Given the description of an element on the screen output the (x, y) to click on. 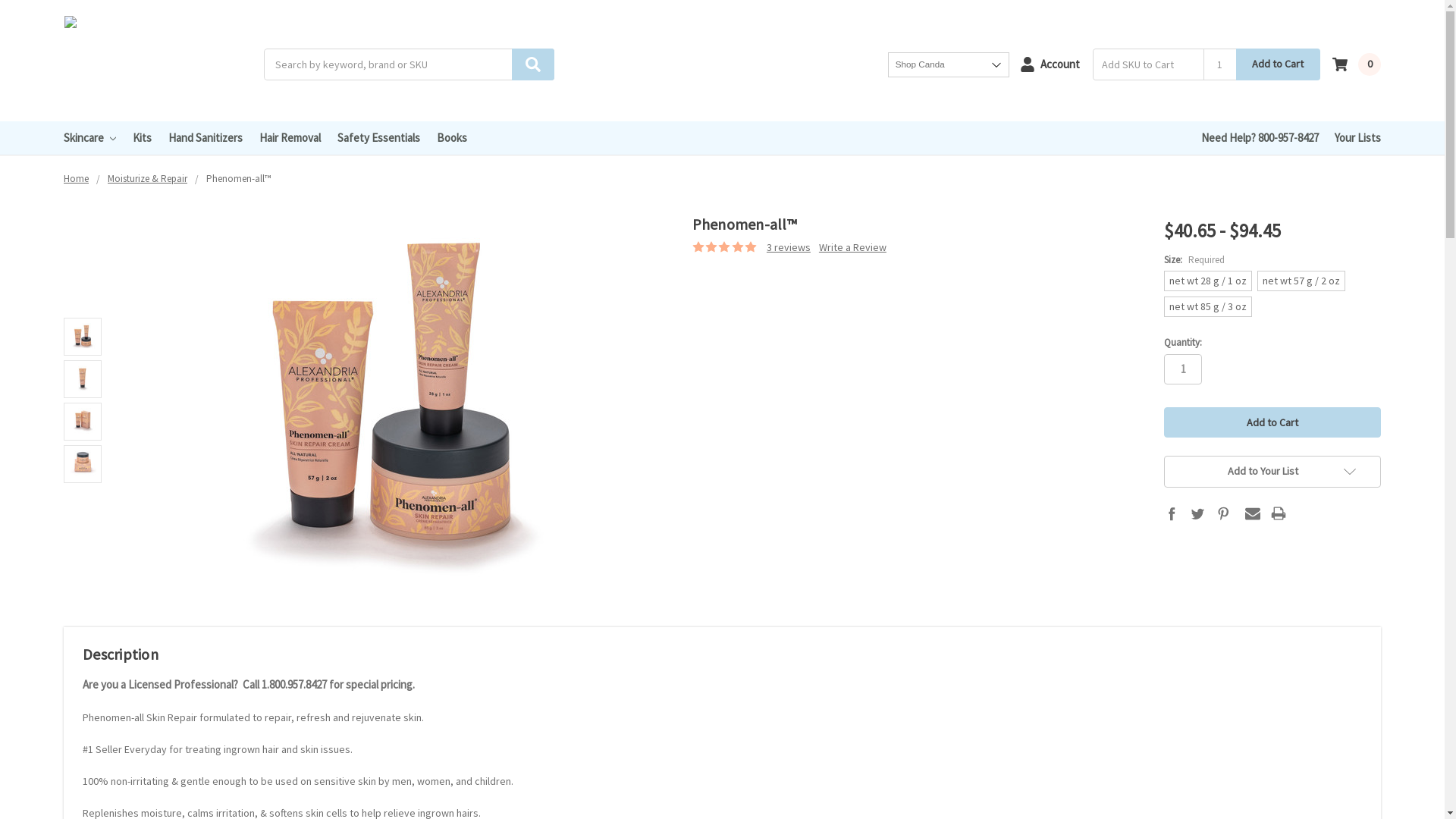
Hair Removal Element type: text (290, 137)
Account Element type: text (1049, 64)
Need Help? 800-957-8427 Element type: text (1259, 137)
0 Element type: text (1356, 64)
Books Element type: text (451, 137)
Write a Review Element type: text (852, 247)
Your Lists Element type: text (1357, 137)
Add to Cart Element type: text (1272, 422)
Alexandria Professional CA Element type: hover (158, 63)
Skincare Element type: text (89, 137)
Home Element type: text (75, 178)
Add to Cart Element type: text (1277, 64)
Moisturize & Repair Element type: text (147, 178)
Hand Sanitizers Element type: text (205, 137)
Add to Your List Element type: text (1272, 471)
Safety Essentials Element type: text (378, 137)
3 reviews Element type: text (788, 247)
Kits Element type: text (142, 137)
